Given the description of an element on the screen output the (x, y) to click on. 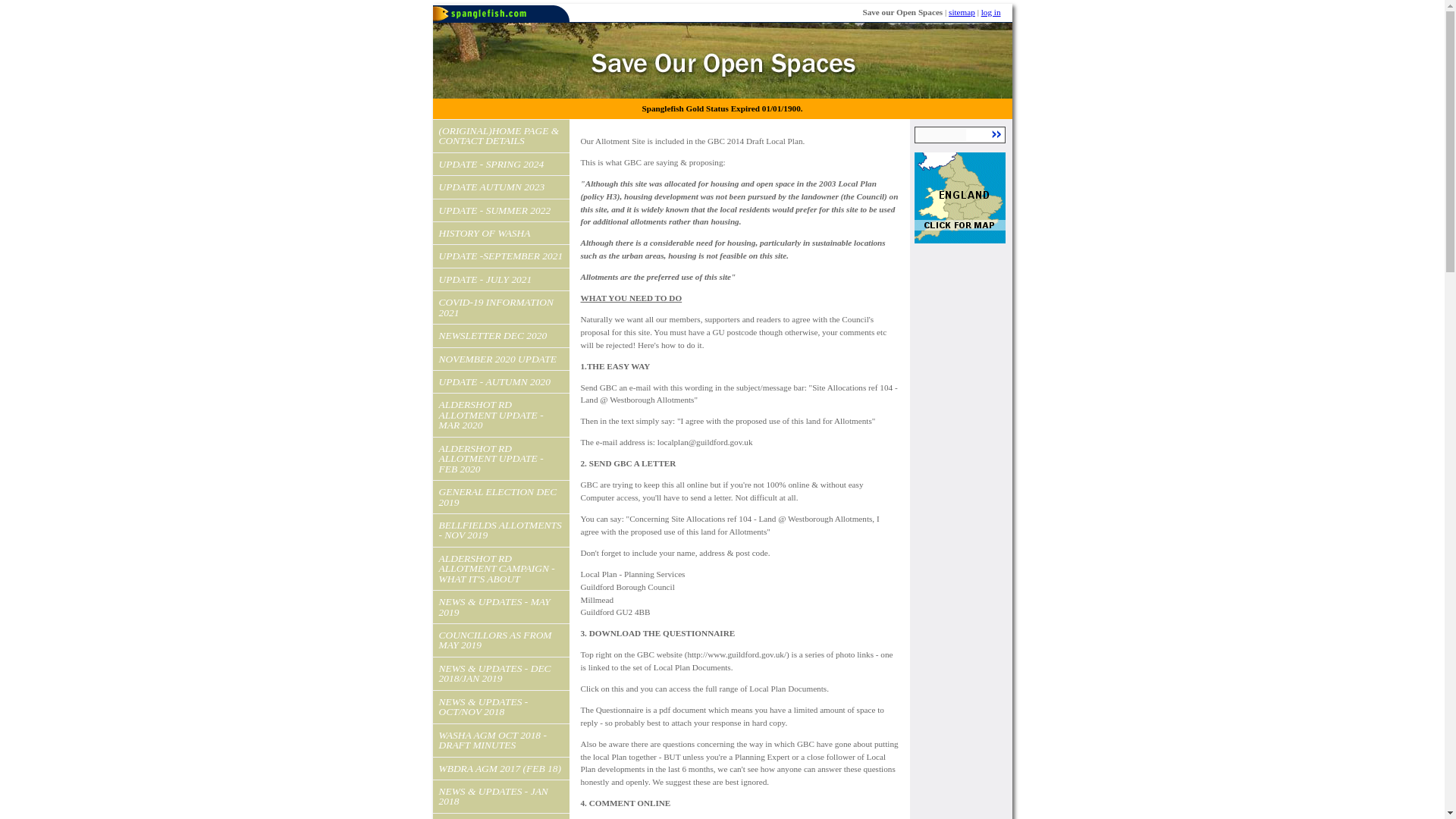
UPDATE - SPRING 2024 (500, 164)
log in (991, 11)
UPDATE - JULY 2021 (500, 279)
UPDATE - SUMMER 2022 (500, 210)
HISTORY OF WASHA (500, 232)
ALDERSHOT RD ALLOTMENT CAMPAIGN - WHAT IT'S ABOUT (500, 568)
BELLFIELDS ALLOTMENTS - NOV 2019 (500, 530)
UPDATE - AUTUMN 2020 (500, 382)
ALDERSHOT RD ALLOTMENT UPDATE - MAR 2020 (500, 414)
NEWSLETTER DEC 2020 (500, 335)
UPDATE AUTUMN 2023 (500, 187)
COVID-19 INFORMATION 2021 (500, 307)
COUNCILLORS AS FROM MAY 2019 (500, 640)
NOVEMBER 2020 UPDATE (500, 359)
GENERAL ELECTION DEC 2019 (500, 496)
